Given the description of an element on the screen output the (x, y) to click on. 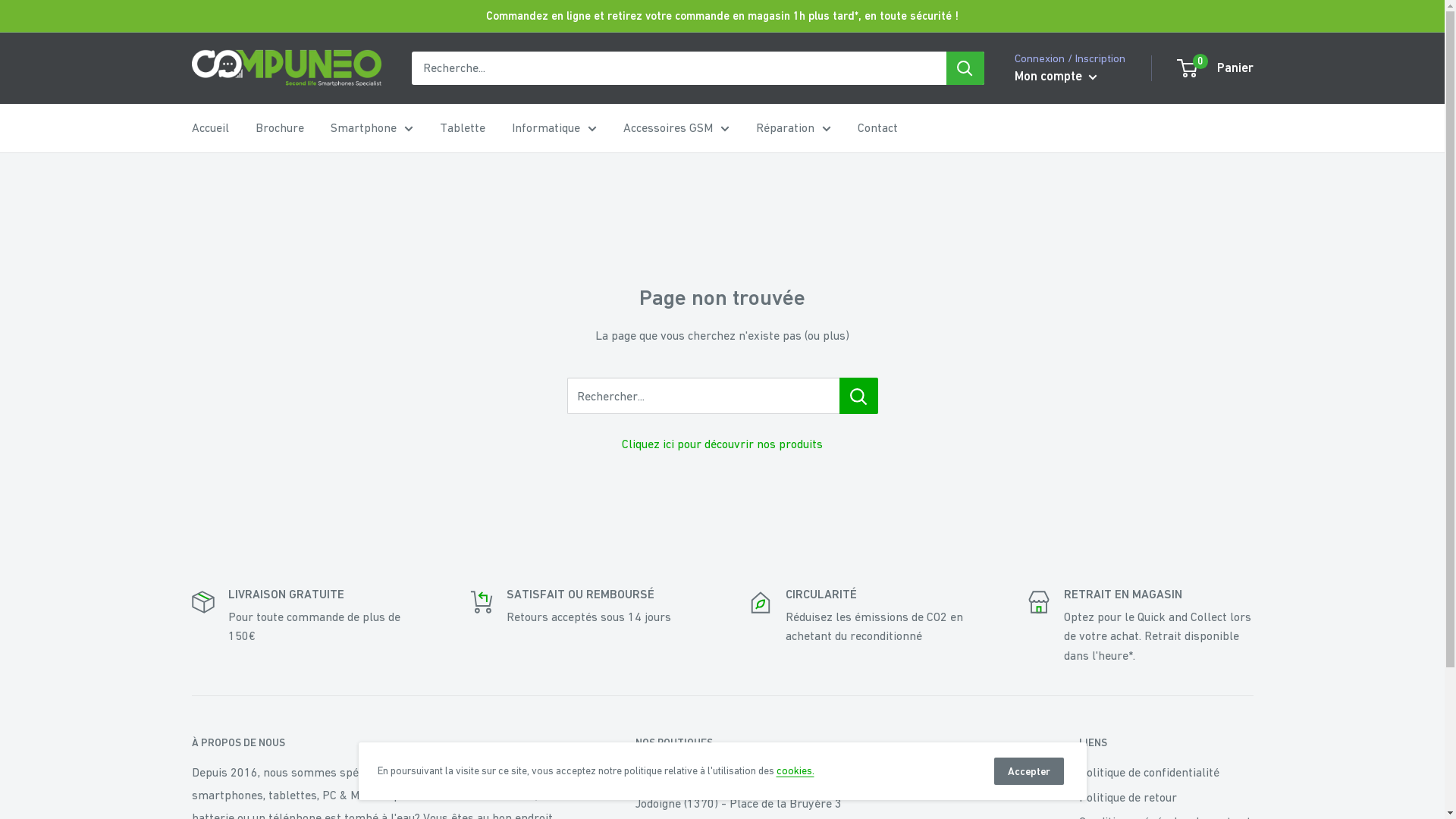
Smartphone Element type: text (371, 127)
Brochure Element type: text (278, 127)
Tablette Element type: text (462, 127)
Accepter Element type: text (1028, 770)
LIENS Element type: text (1165, 743)
Accessoires GSM Element type: text (676, 127)
NOS BOUTIQUES Element type: text (830, 743)
cookies. Element type: text (795, 770)
Informatique Element type: text (553, 127)
Accueil Element type: text (209, 127)
0
Panier Element type: text (1215, 68)
Politique de retour Element type: text (1165, 796)
Mon compte Element type: text (1055, 76)
Contact Element type: text (876, 127)
